Given the description of an element on the screen output the (x, y) to click on. 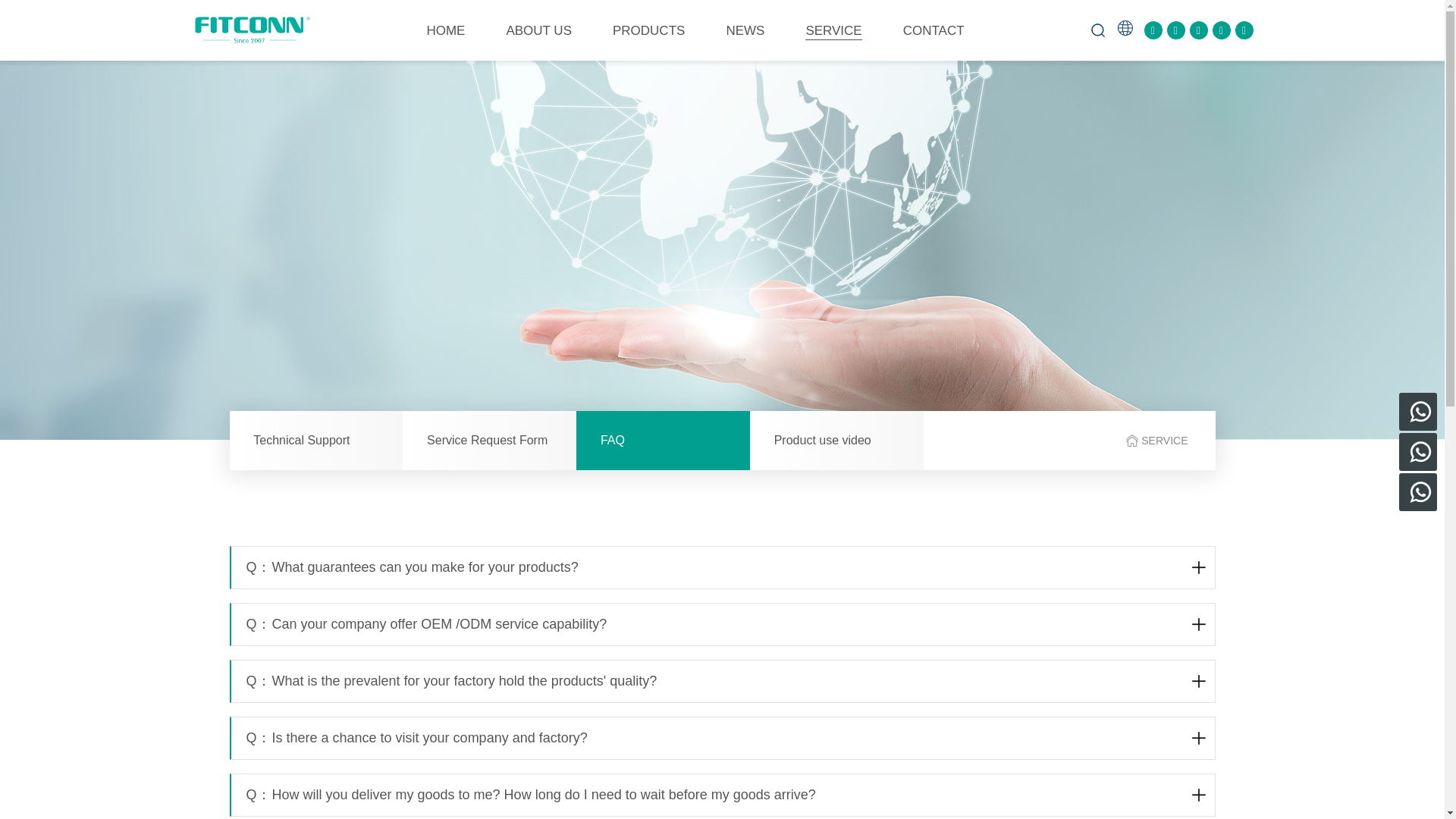
SERVICE (833, 30)
ABOUT US (538, 30)
Technical Support (315, 440)
CONTACT (932, 30)
PRODUCTS (648, 30)
Fitconn LOGO (251, 30)
Service Request Form (489, 440)
